Given the description of an element on the screen output the (x, y) to click on. 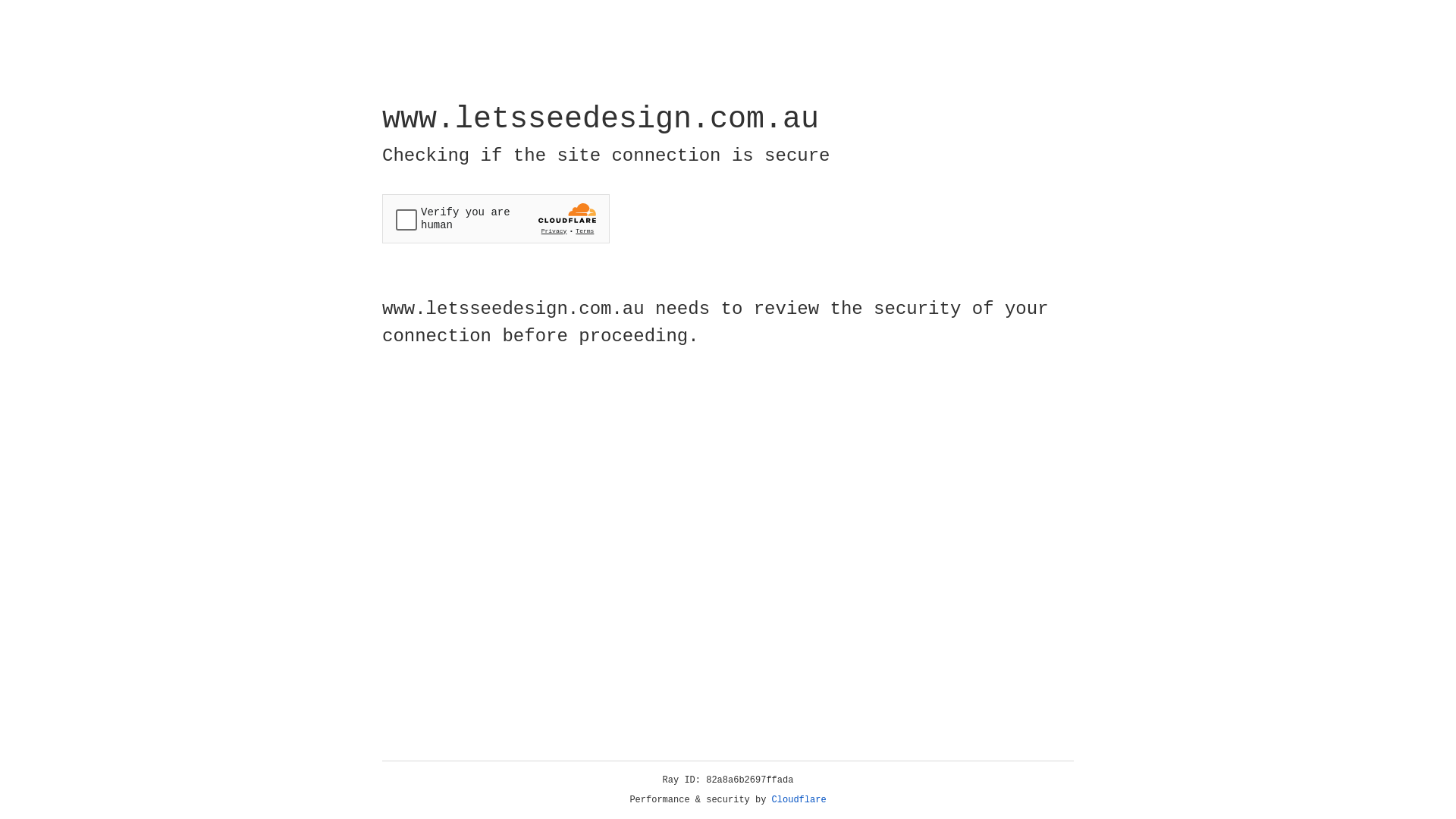
Widget containing a Cloudflare security challenge Element type: hover (495, 218)
Cloudflare Element type: text (798, 799)
